Given the description of an element on the screen output the (x, y) to click on. 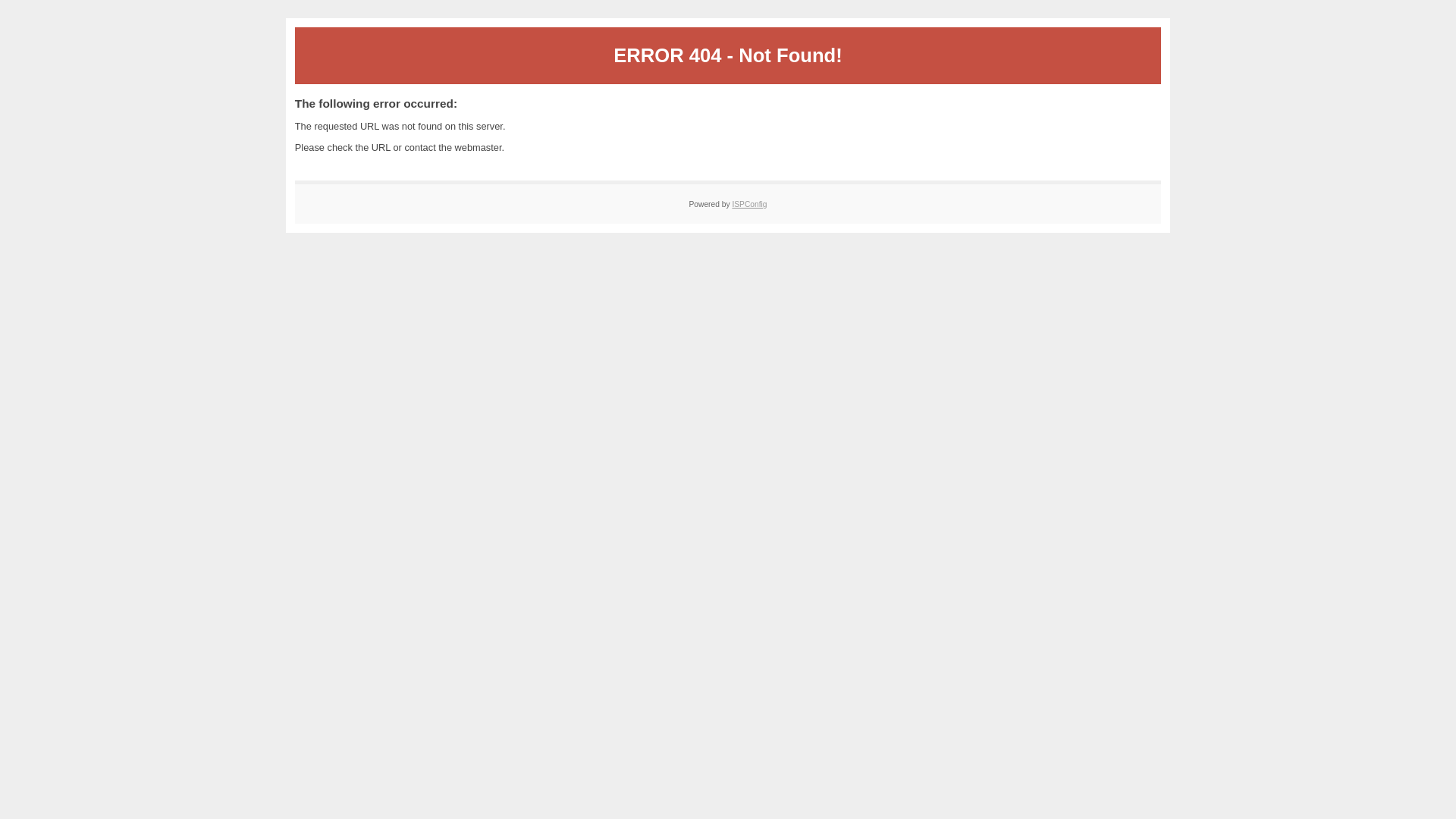
ISPConfig Element type: text (748, 204)
